Given the description of an element on the screen output the (x, y) to click on. 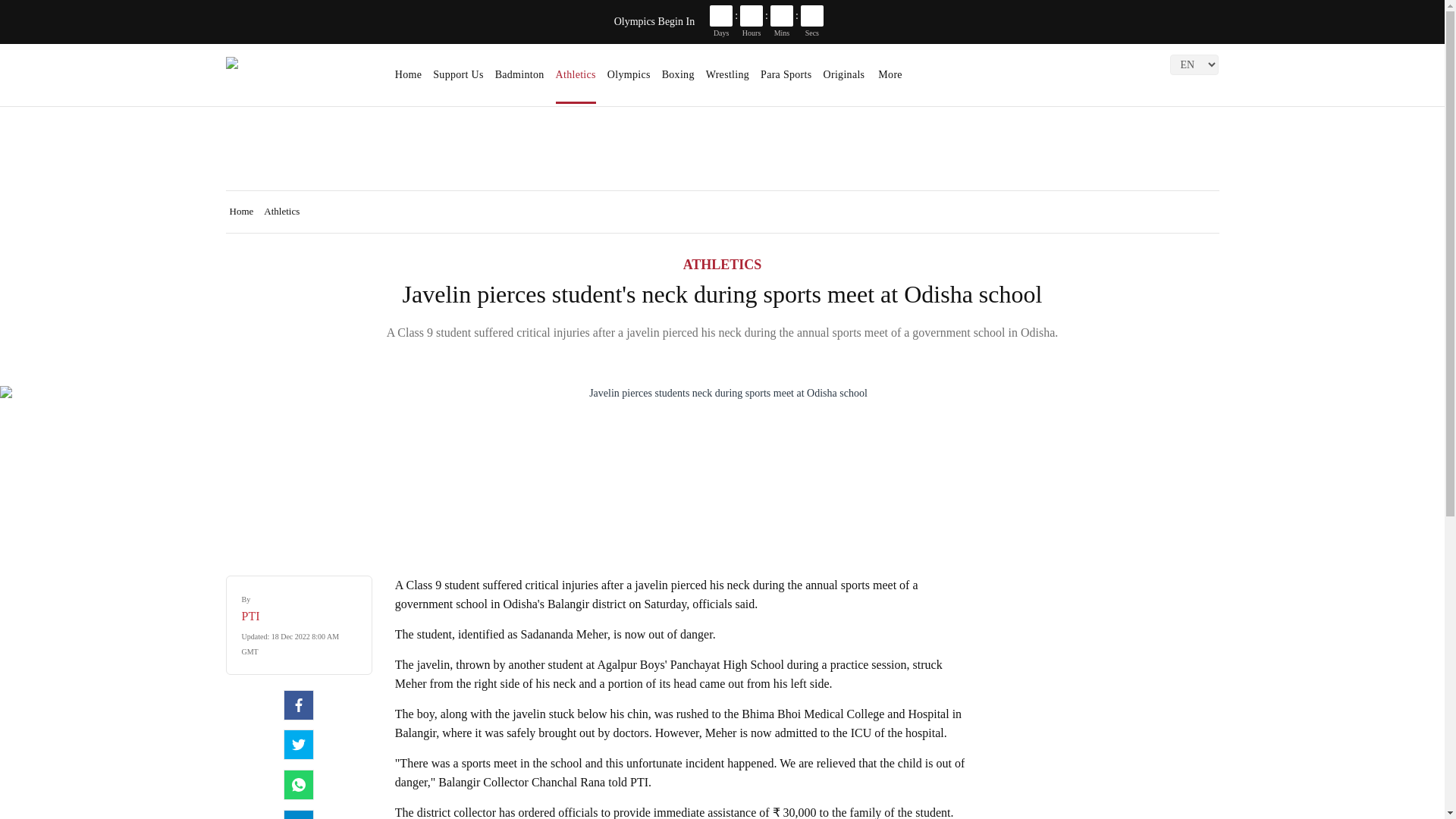
Olympics (628, 80)
Para Sports (785, 80)
Wrestling (727, 80)
Badminton (519, 80)
Support Us (457, 80)
